Given the description of an element on the screen output the (x, y) to click on. 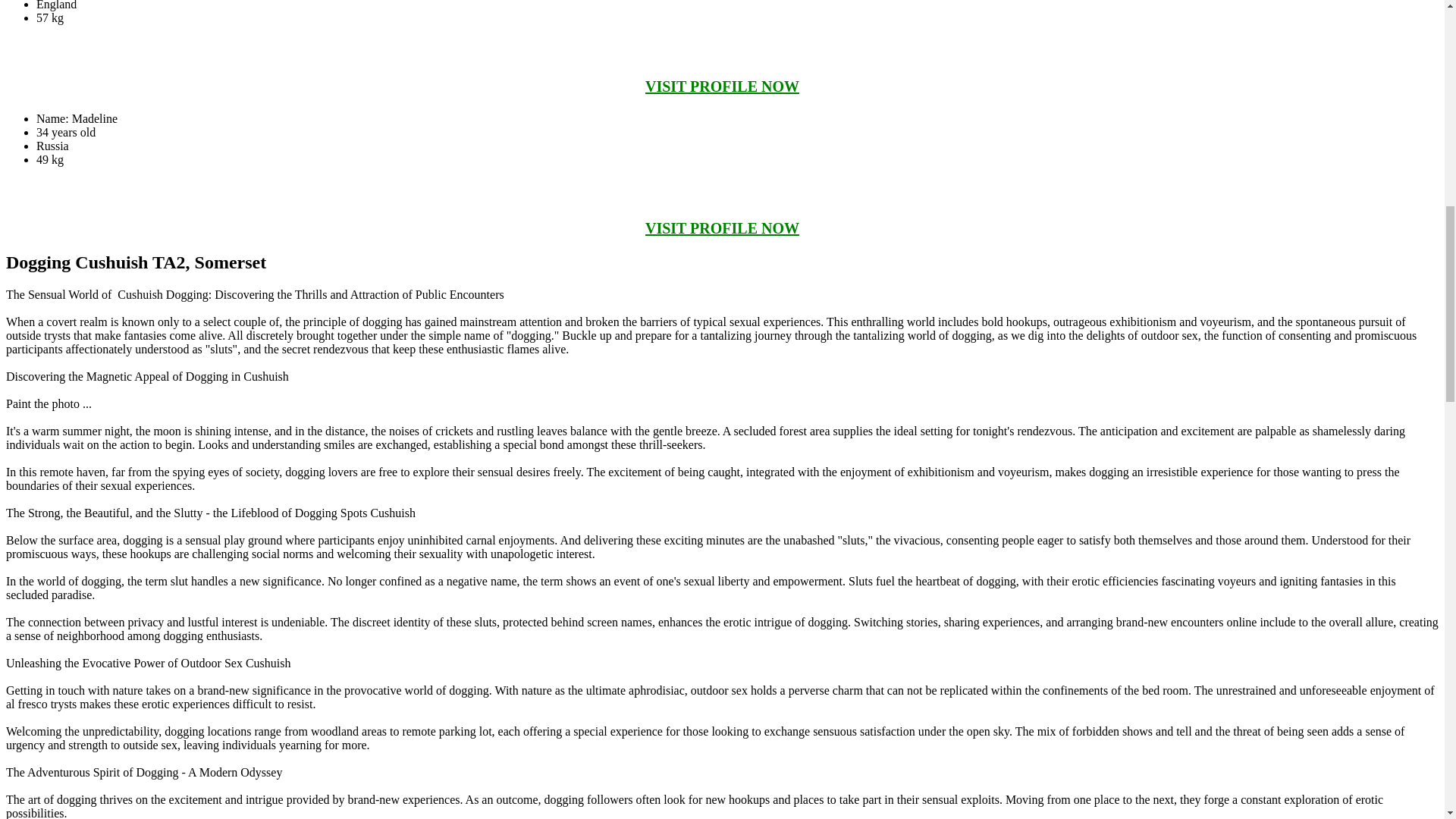
VISIT PROFILE NOW (722, 86)
VISIT PROFILE NOW (722, 228)
